Given the description of an element on the screen output the (x, y) to click on. 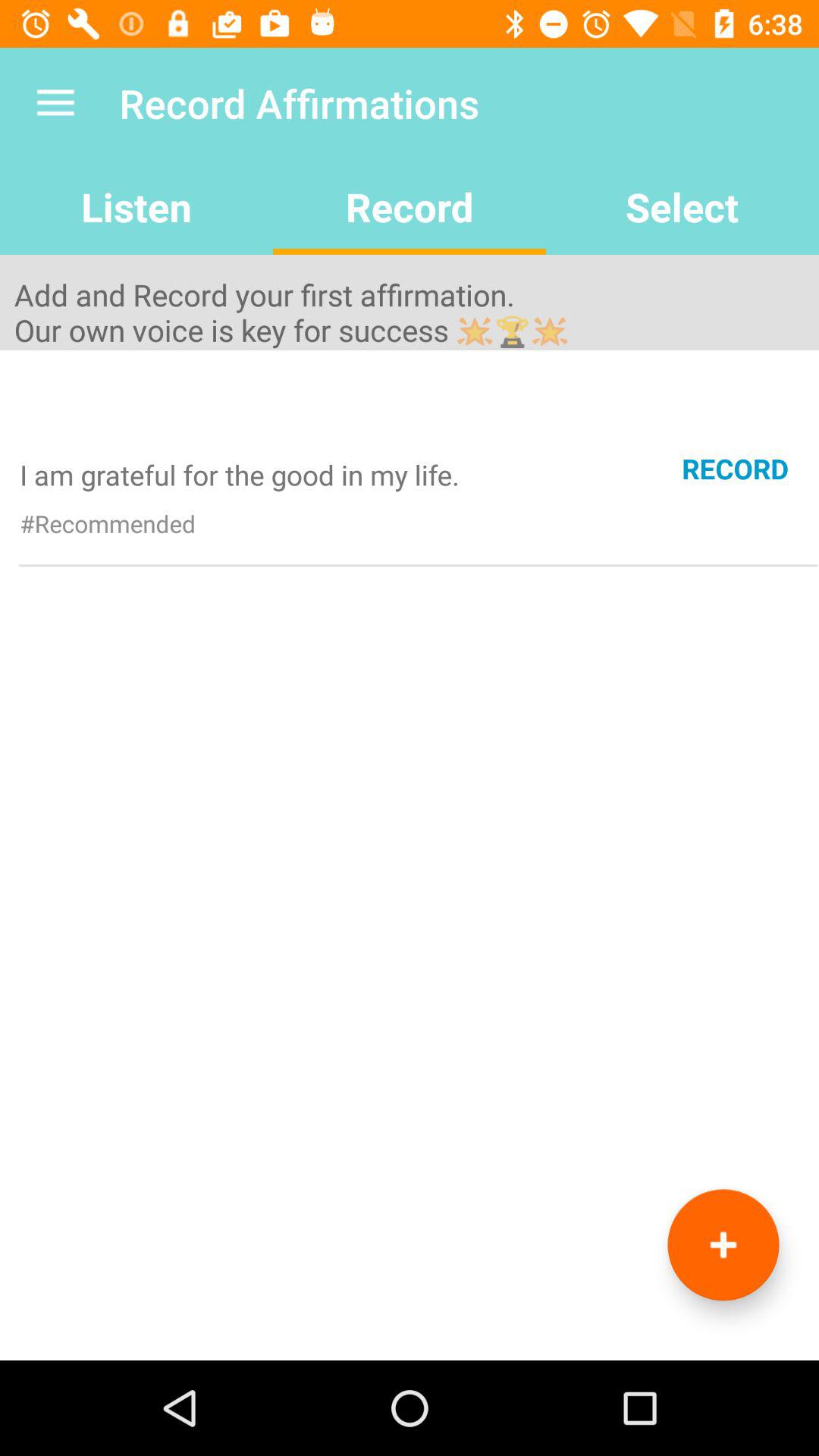
select the item above the listen item (55, 103)
